Given the description of an element on the screen output the (x, y) to click on. 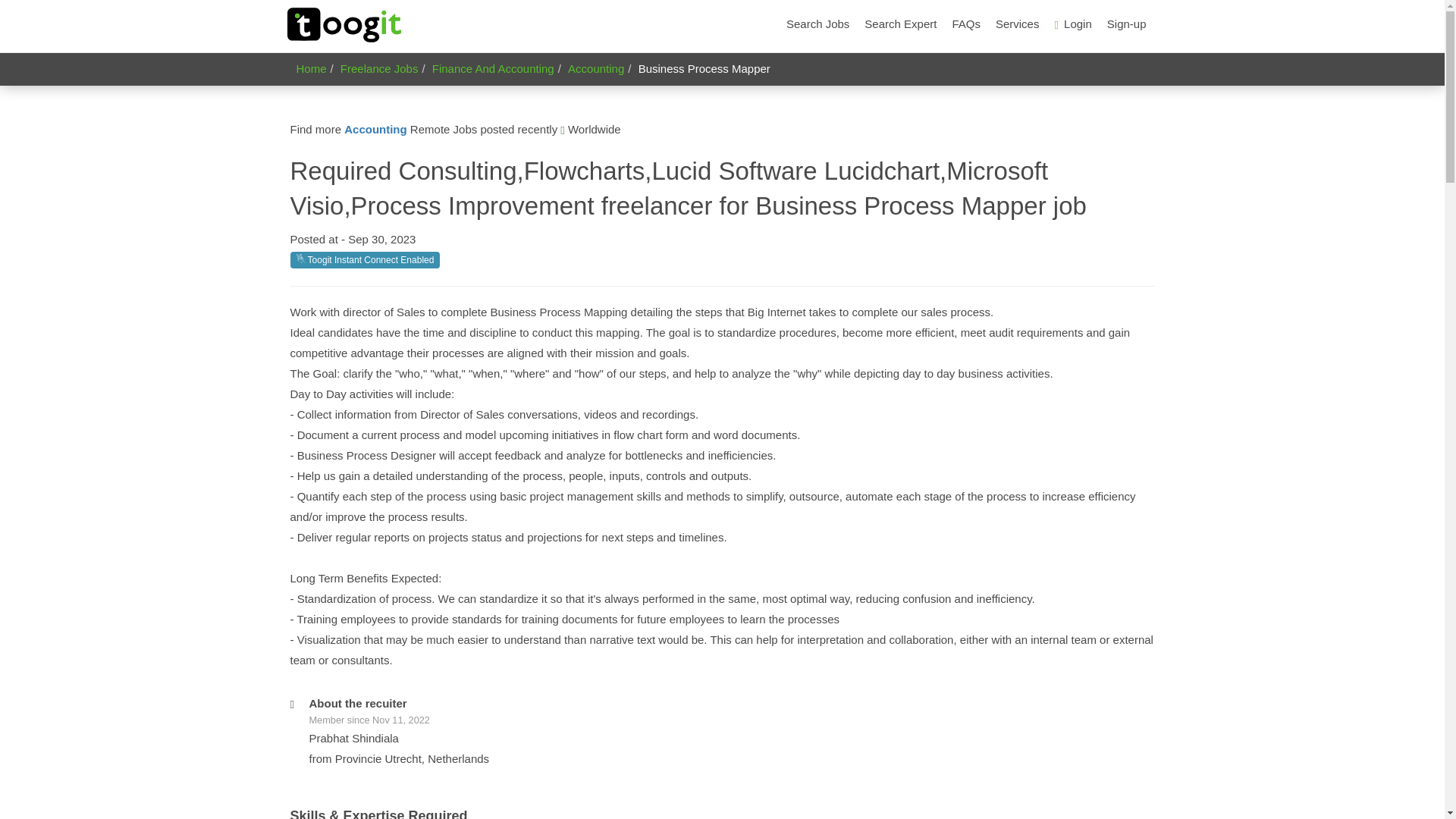
Login (1072, 23)
Sign-up (1126, 23)
Services (1017, 23)
Finance And Accounting (493, 68)
Freelance Jobs (379, 68)
Find More Accounting Remote Jobs (375, 128)
Accounting (375, 128)
Search Expert (900, 23)
Home (310, 68)
Accounting (595, 68)
